Given the description of an element on the screen output the (x, y) to click on. 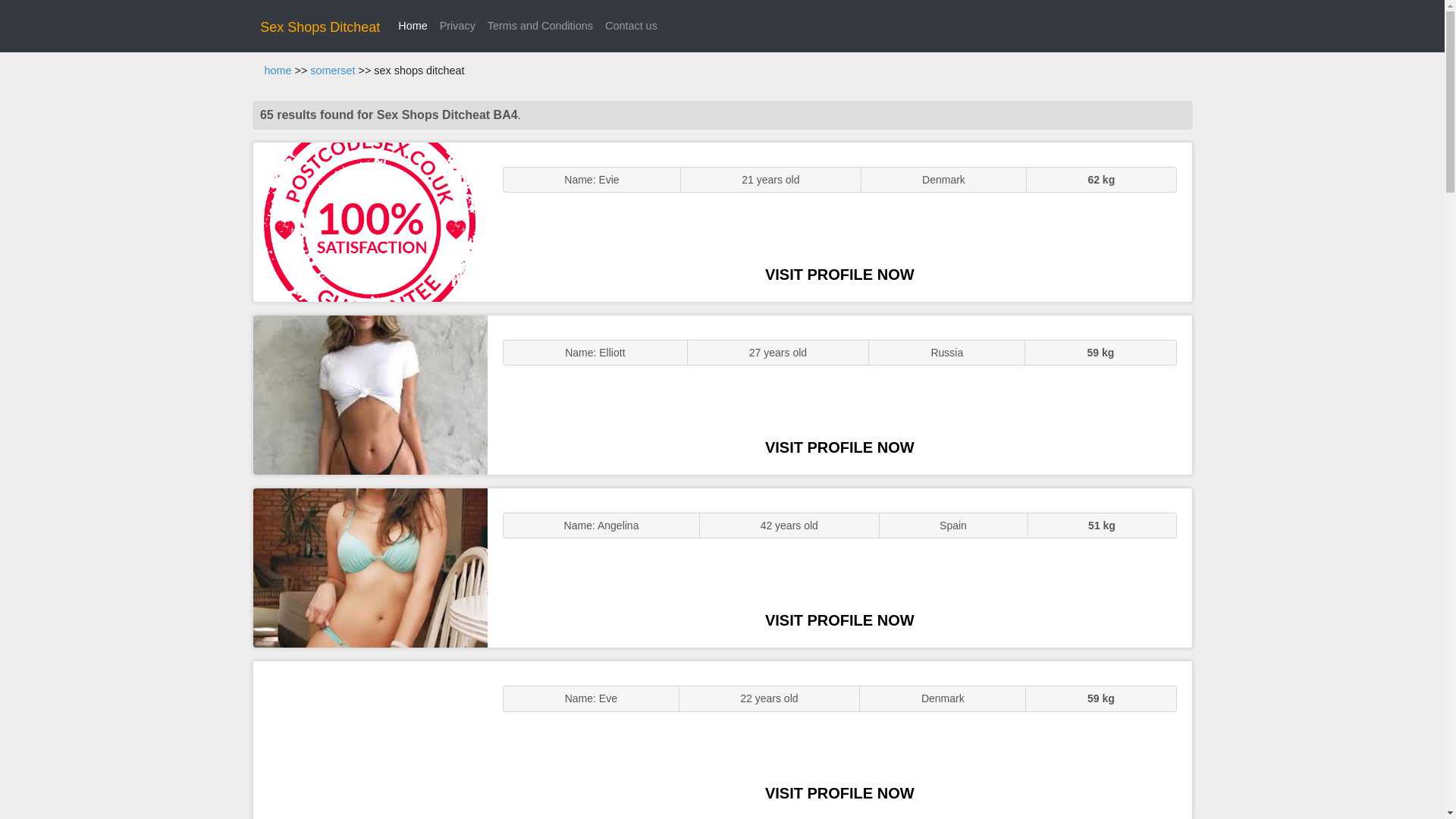
VISIT PROFILE NOW (839, 446)
VISIT PROFILE NOW (839, 792)
somerset (332, 70)
Terms and Conditions (539, 25)
Privacy (457, 25)
 ENGLISH STUNNER (370, 222)
Sex Shops Ditcheat (320, 27)
VISIT PROFILE NOW (839, 619)
Sluts (370, 739)
VISIT PROFILE NOW (839, 274)
